Given the description of an element on the screen output the (x, y) to click on. 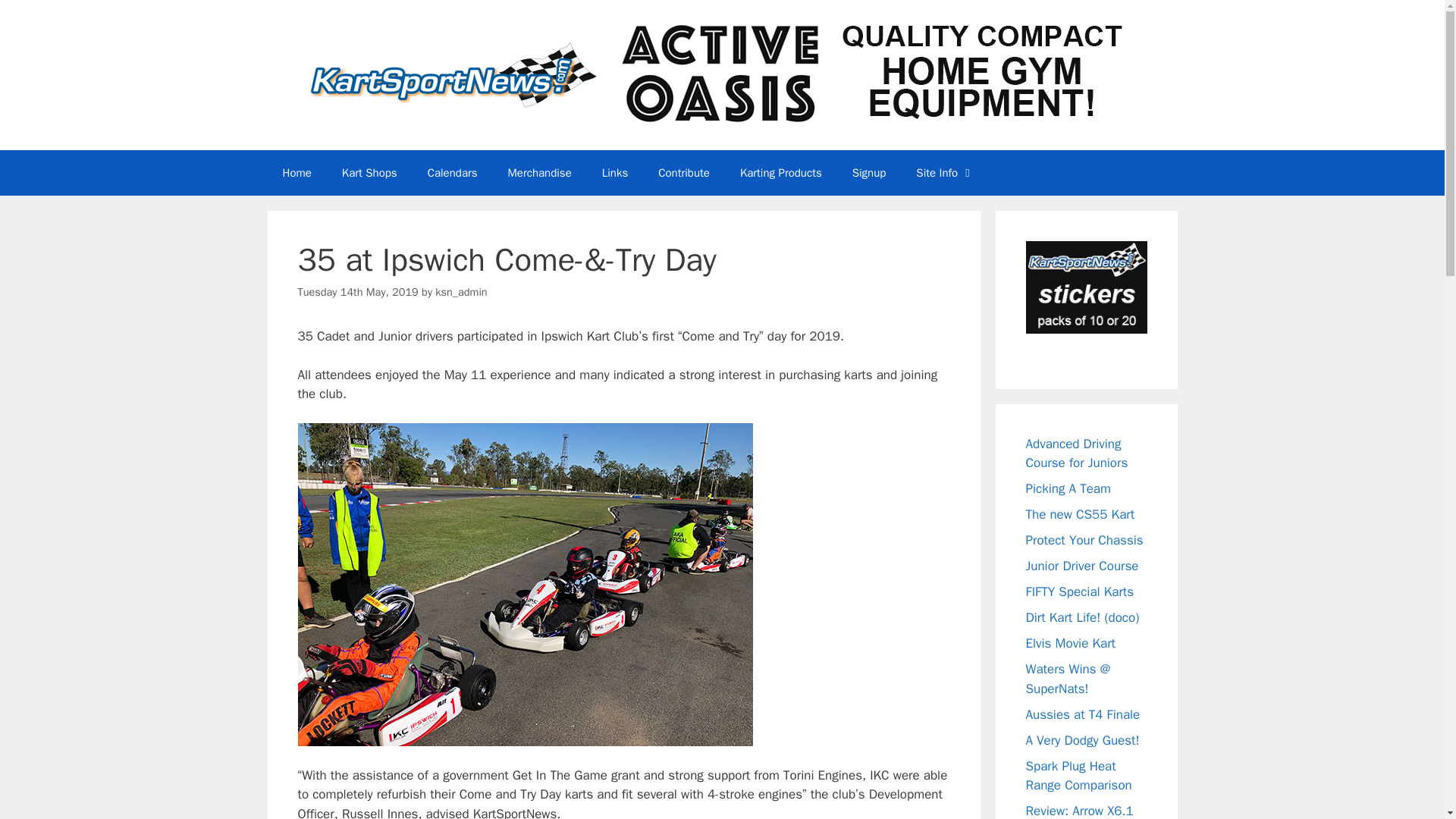
Review: Arrow X6.1 (1078, 811)
Advanced Driving Course for Juniors (1075, 453)
Links (614, 172)
The new CS55 Kart (1079, 514)
Protect Your Chassis (1083, 539)
Aussies at T4 Finale (1082, 714)
Karting Products (781, 172)
Junior Driver Course (1081, 565)
Home (296, 172)
Contribute (684, 172)
Calendars (452, 172)
Signup (869, 172)
Site Info (945, 172)
Kart Shops (369, 172)
Merchandise (539, 172)
